Given the description of an element on the screen output the (x, y) to click on. 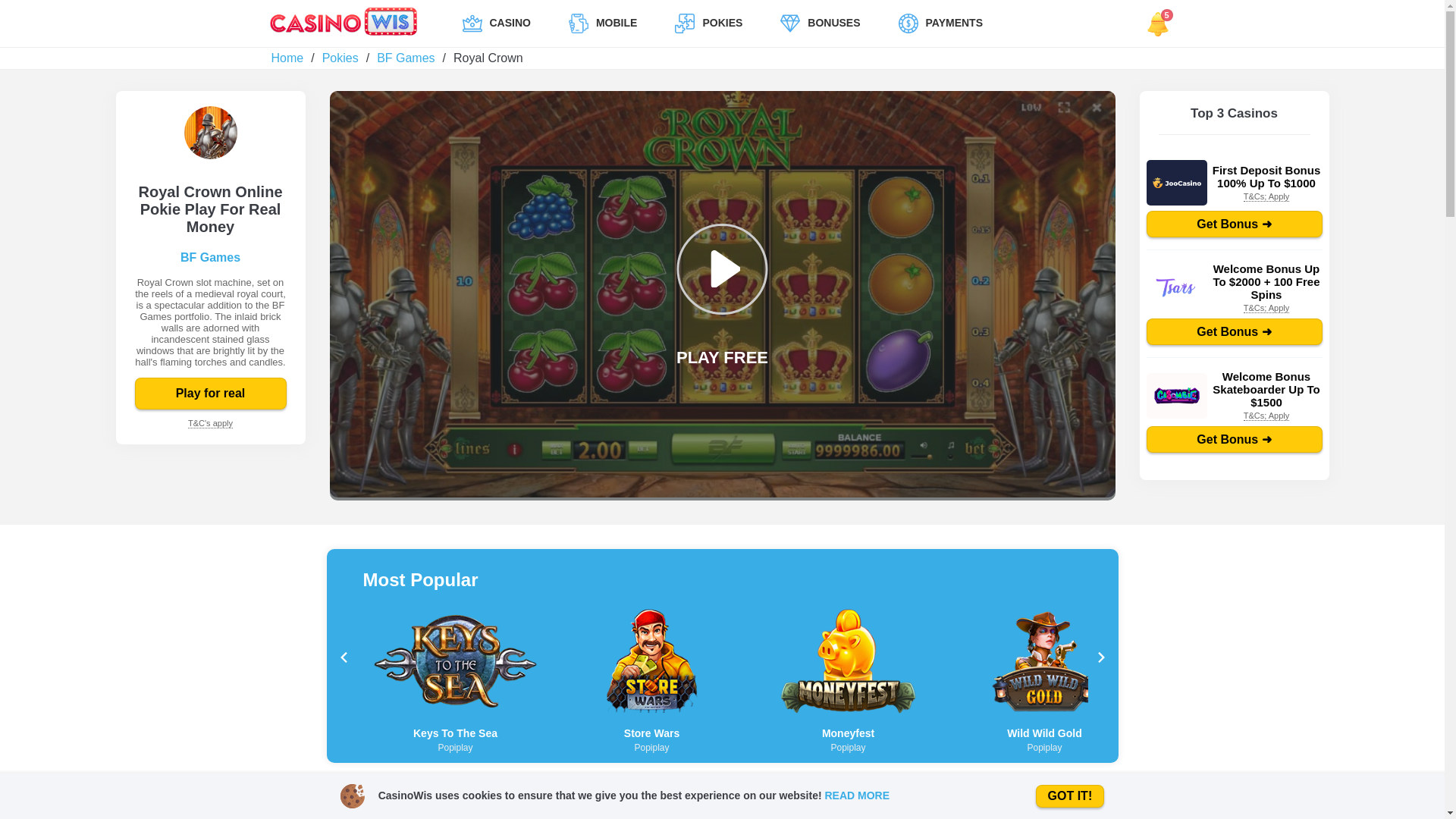
Pokies (339, 57)
BONUSES (819, 23)
BF Games (405, 57)
CASINO (495, 23)
MOBILE (602, 23)
Home (287, 57)
POKIES (708, 23)
